Given the description of an element on the screen output the (x, y) to click on. 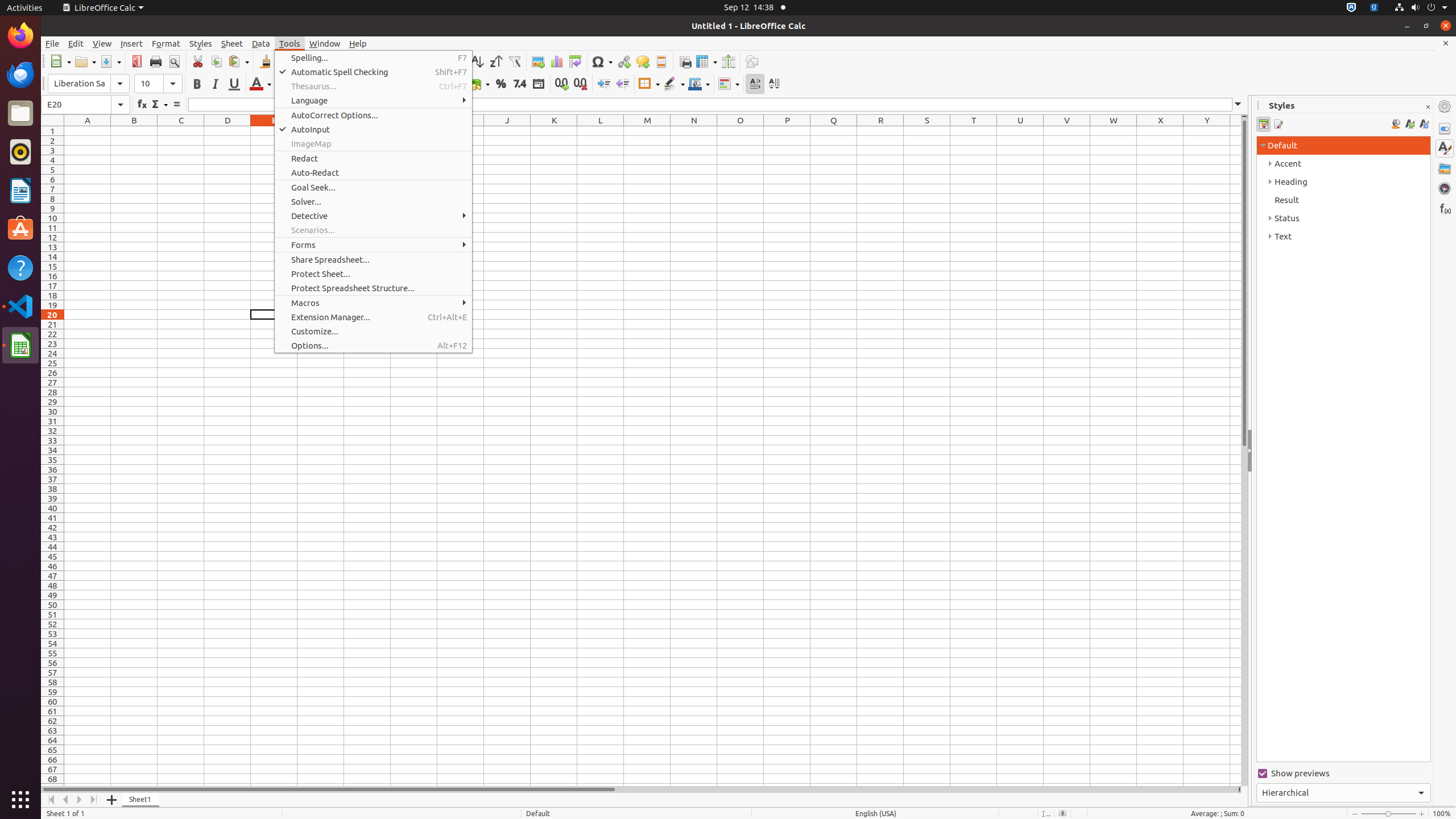
J1 Element type: table-cell (507, 130)
Gallery Element type: radio-button (1444, 168)
Save Element type: push-button (109, 61)
Add Decimal Place Element type: push-button (561, 83)
LibreOffice Calc Element type: push-button (20, 344)
